Given the description of an element on the screen output the (x, y) to click on. 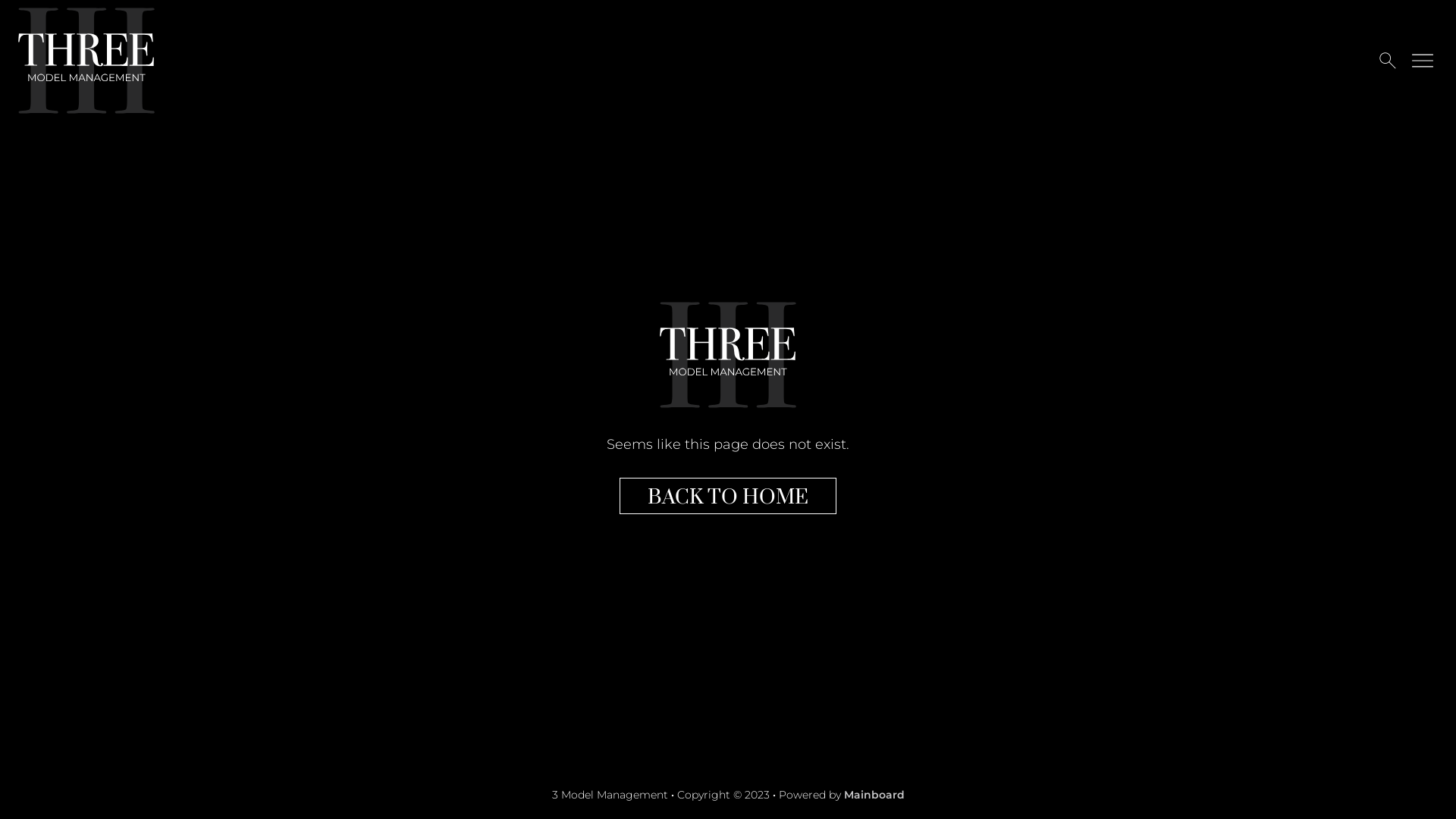
search Element type: text (1387, 60)
Mainboard Element type: text (873, 794)
BACK TO HOME Element type: text (727, 495)
